Given the description of an element on the screen output the (x, y) to click on. 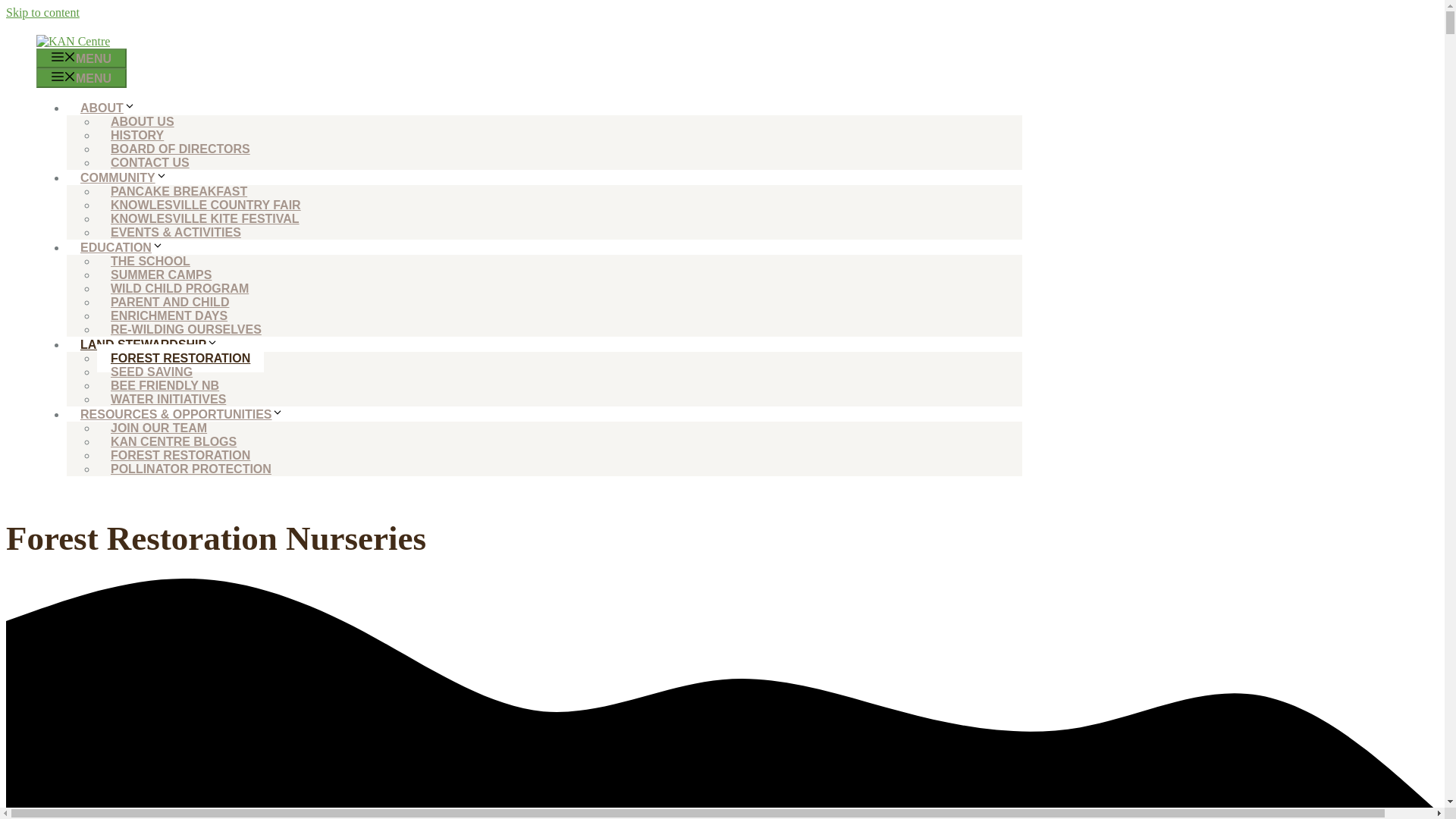
FOREST RESTORATION (180, 455)
SUMMER CAMPS (161, 275)
JOIN OUR TEAM (159, 428)
SEED SAVING (151, 371)
THE SCHOOL (150, 261)
COMMUNITY (130, 177)
BOARD OF DIRECTORS (180, 148)
KAN CENTRE BLOGS (173, 441)
BEE FRIENDLY NB (164, 385)
PARENT AND CHILD (170, 302)
WILD CHILD PROGRAM (179, 288)
POLLINATOR PROTECTION (191, 469)
MENU (81, 57)
CONTACT US (150, 162)
EDUCATION (128, 246)
